Given the description of an element on the screen output the (x, y) to click on. 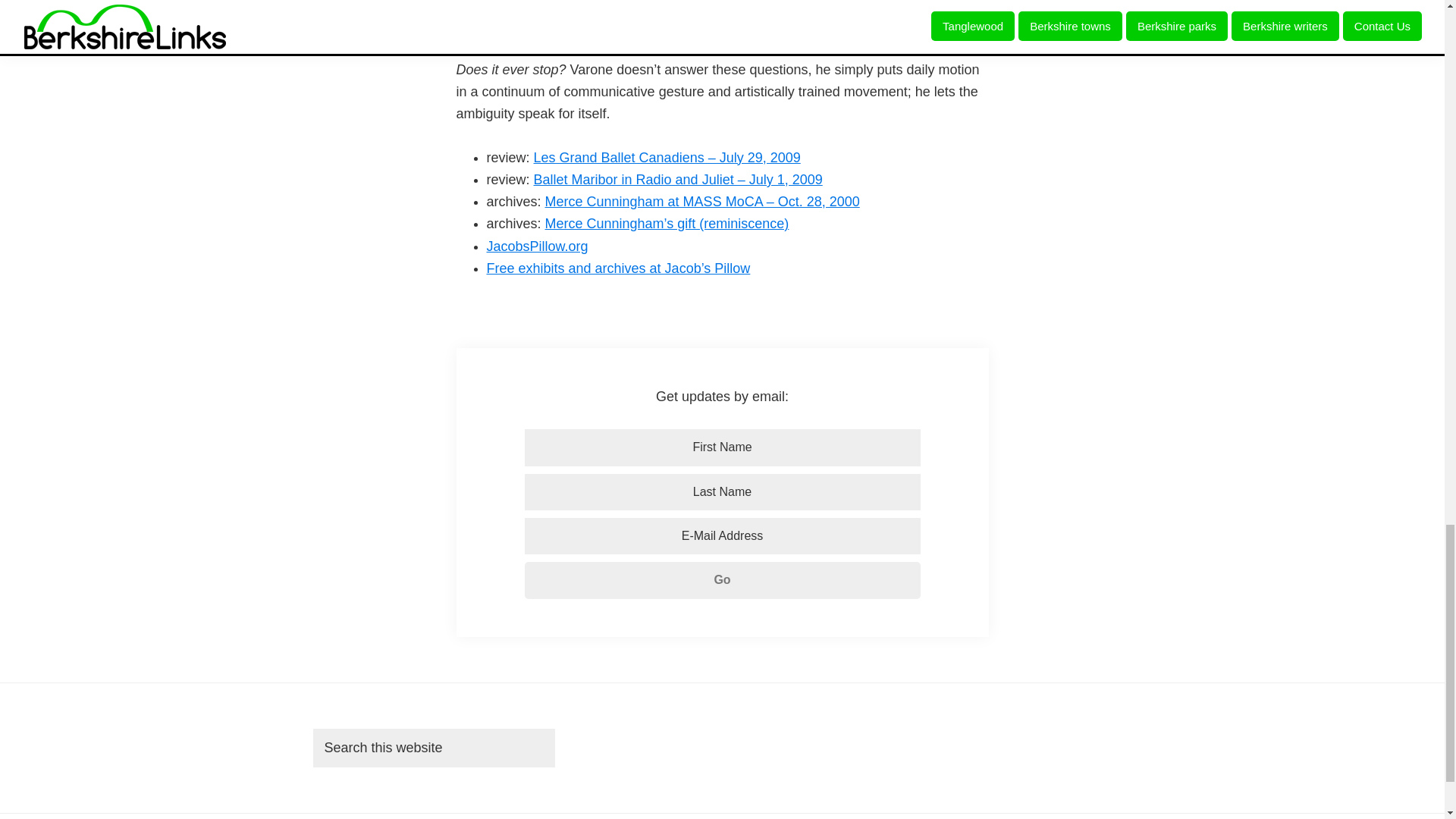
Go (722, 579)
Go (722, 579)
JacobsPillow.org (537, 245)
